Given the description of an element on the screen output the (x, y) to click on. 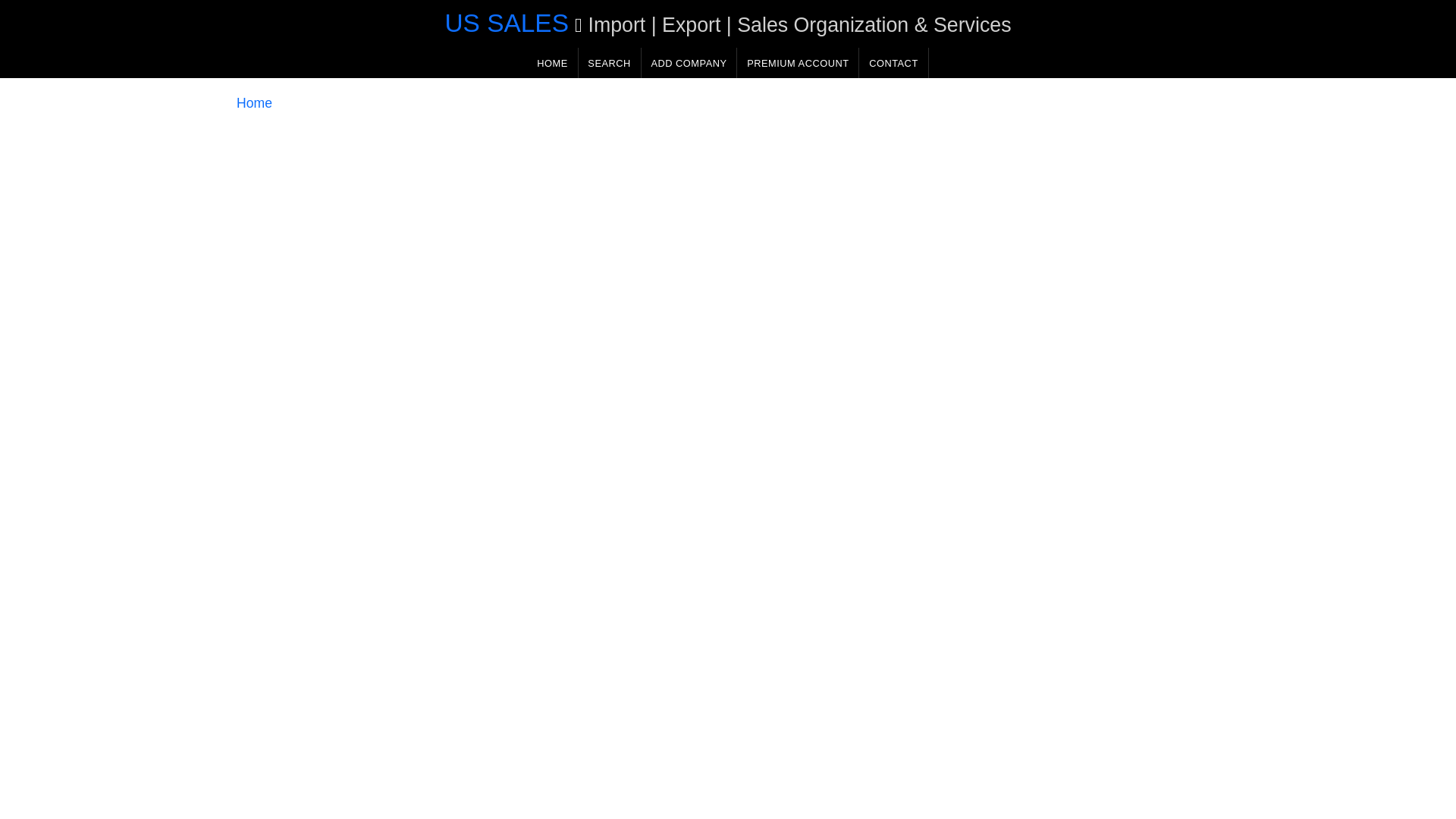
US SALES (505, 22)
PREMIUM ACCOUNT (797, 62)
Search in this webseite. (609, 62)
Premium account (797, 62)
ADD COMPANY (689, 62)
SEARCH (609, 62)
Home (253, 102)
HOME (551, 62)
Add a new company (689, 62)
